Given the description of an element on the screen output the (x, y) to click on. 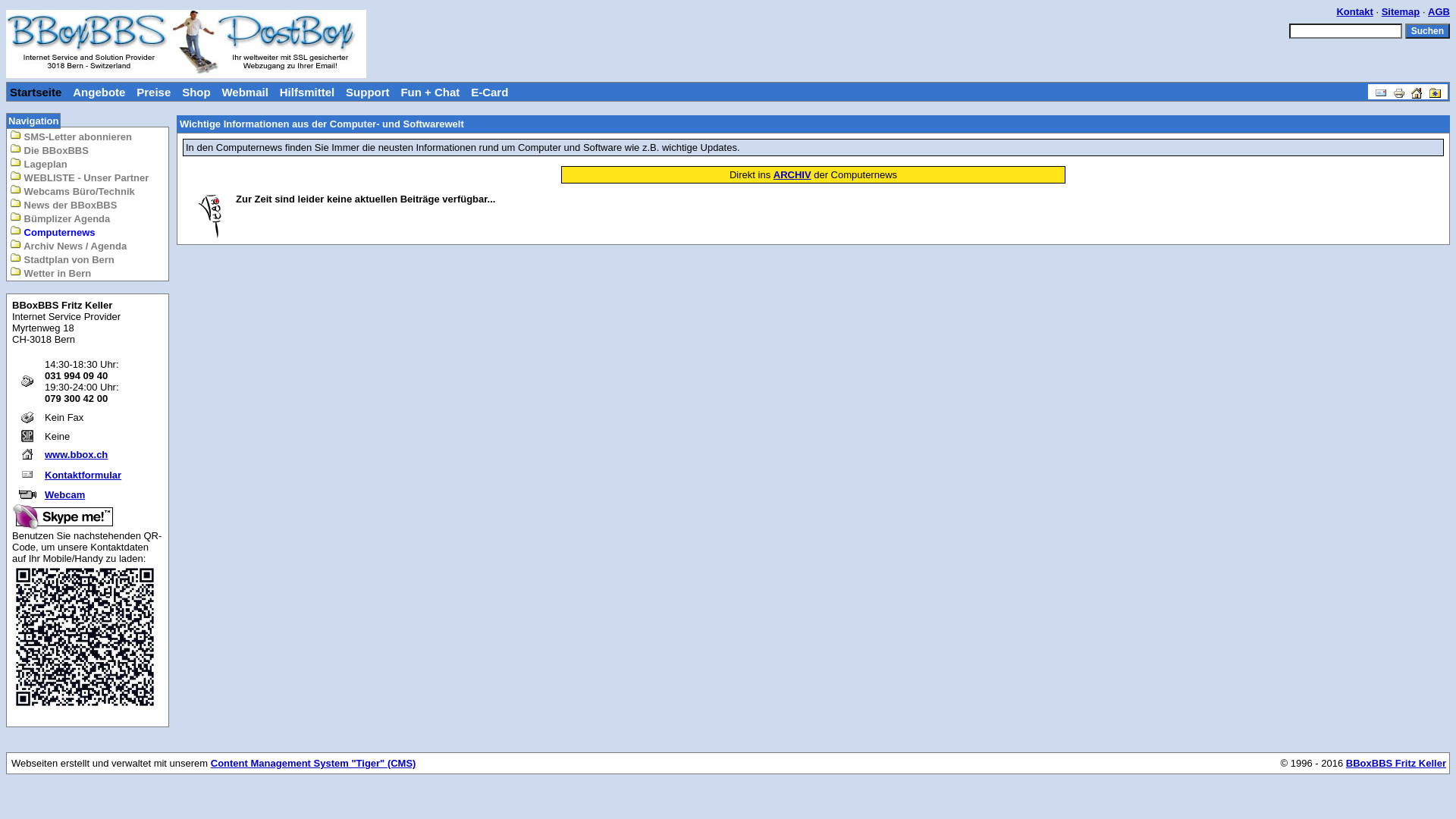
ARCHIV Element type: text (792, 174)
 Die BBoxBBS Element type: text (49, 150)
Angebote Element type: text (98, 91)
 Stadtplan von Bern Element type: text (62, 259)
 Lageplan Element type: text (38, 163)
Content Management System "Tiger" (CMS) Element type: text (313, 762)
Preise Element type: text (153, 91)
Fun + Chat Element type: text (429, 91)
Kontakt Element type: text (1354, 11)
www.bbox.ch Element type: text (75, 454)
 Wetter in Bern Element type: text (50, 273)
Suchen Element type: text (1427, 30)
 Archiv News / Agenda Element type: text (68, 245)
Hilfsmittel Element type: text (307, 91)
Kontaktformular Element type: text (82, 474)
Shop Element type: text (196, 91)
AGB Element type: text (1438, 11)
E-Card Element type: text (489, 91)
Startseite Element type: text (35, 91)
Support Element type: text (367, 91)
Favoriten Element type: hover (1434, 89)
Webcam Element type: text (64, 493)
 WEBLISTE - Unser Partner Element type: text (79, 177)
Startseite / Page Element type: hover (1416, 89)
 News der BBoxBBS Element type: text (63, 204)
 Computernews Element type: text (52, 232)
BBoxBBS Fritz Keller Element type: text (1396, 762)
Sitemap Element type: text (1400, 11)
Webmail Element type: text (244, 91)
 SMS-Letter abonnieren Element type: text (70, 136)
